Given the description of an element on the screen output the (x, y) to click on. 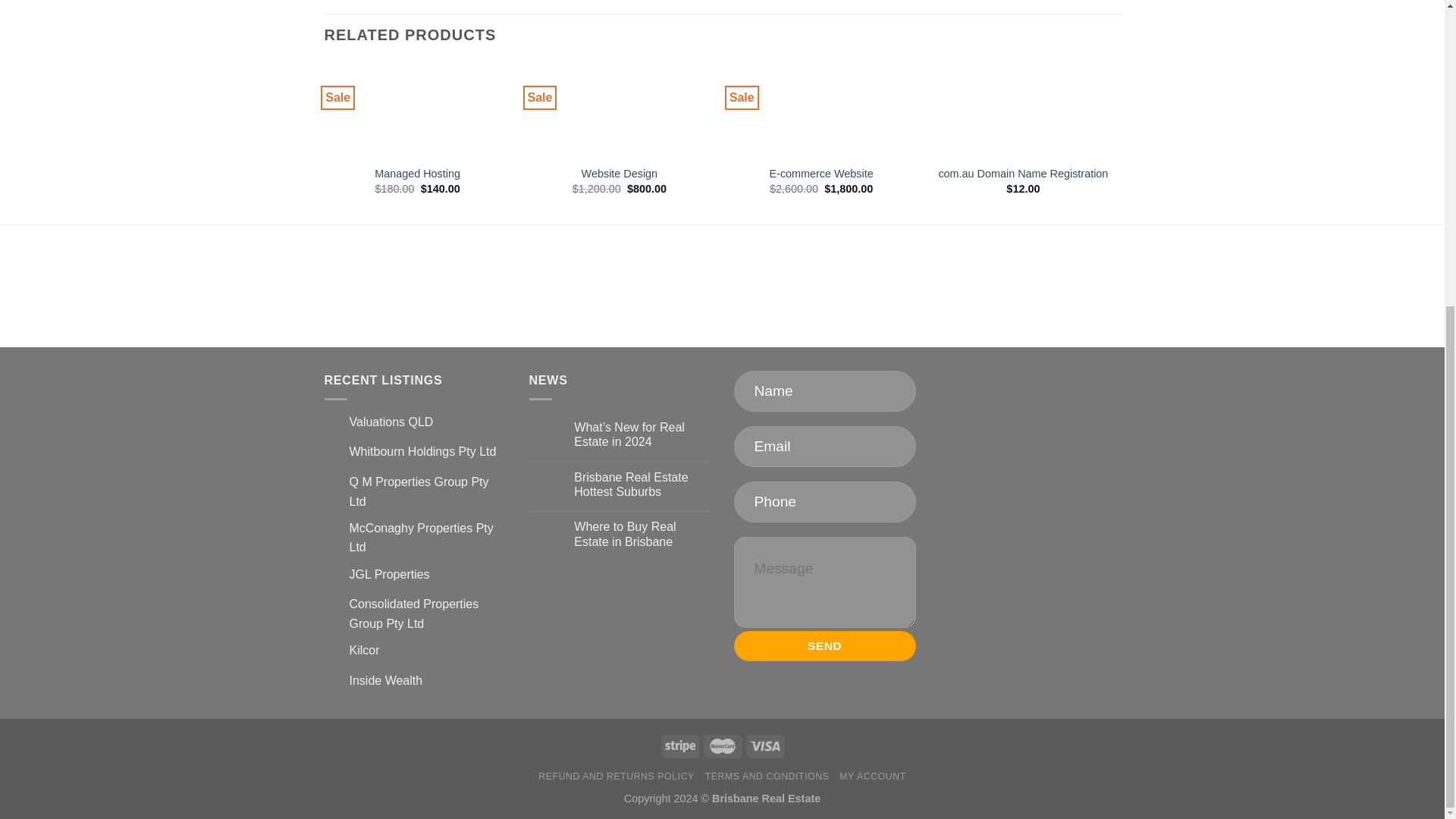
Managed Hosting (417, 173)
Send (824, 645)
